Given the description of an element on the screen output the (x, y) to click on. 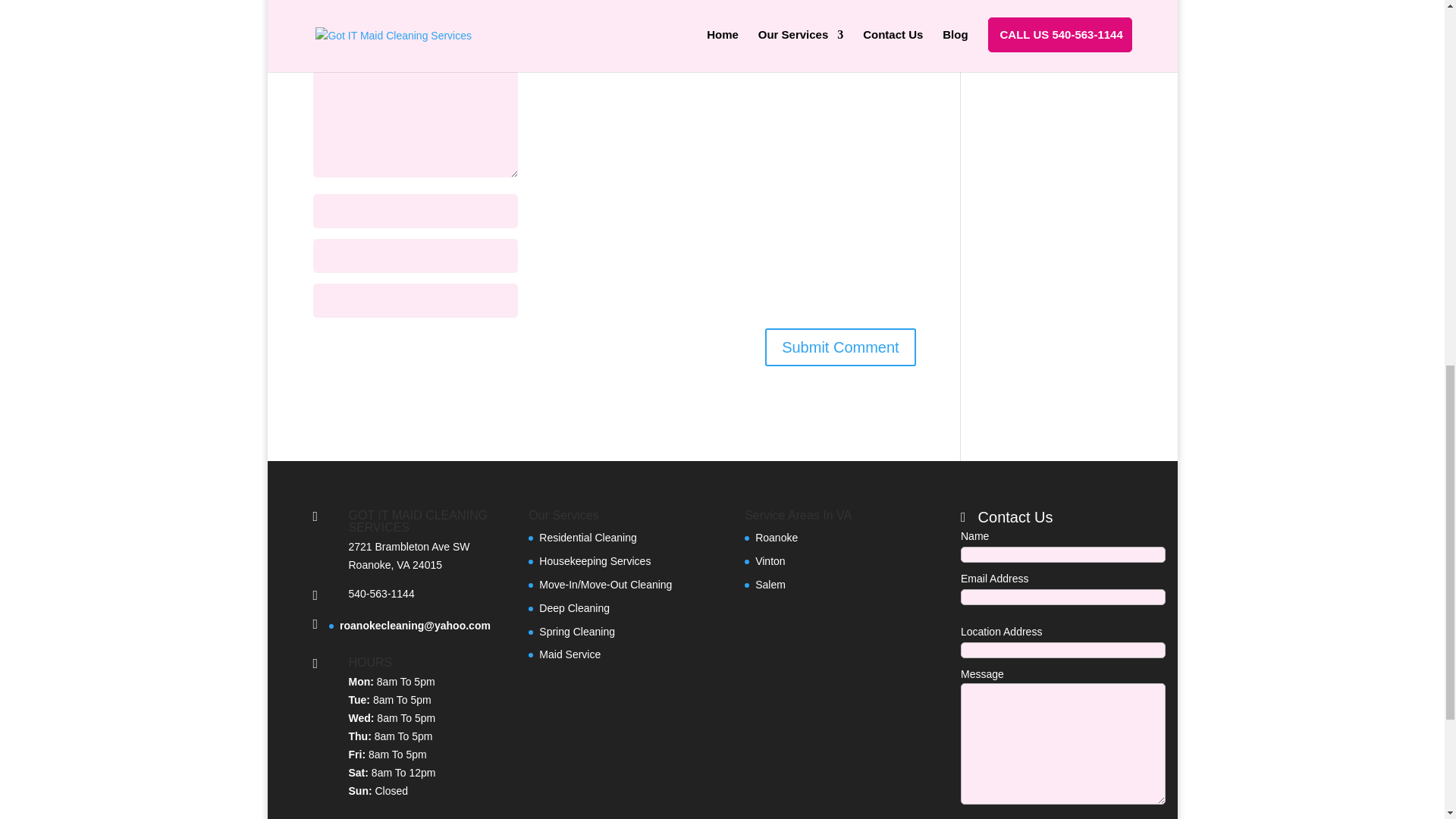
Submit Comment (840, 347)
540-563-1144 (381, 593)
Submit Comment (840, 347)
